Given the description of an element on the screen output the (x, y) to click on. 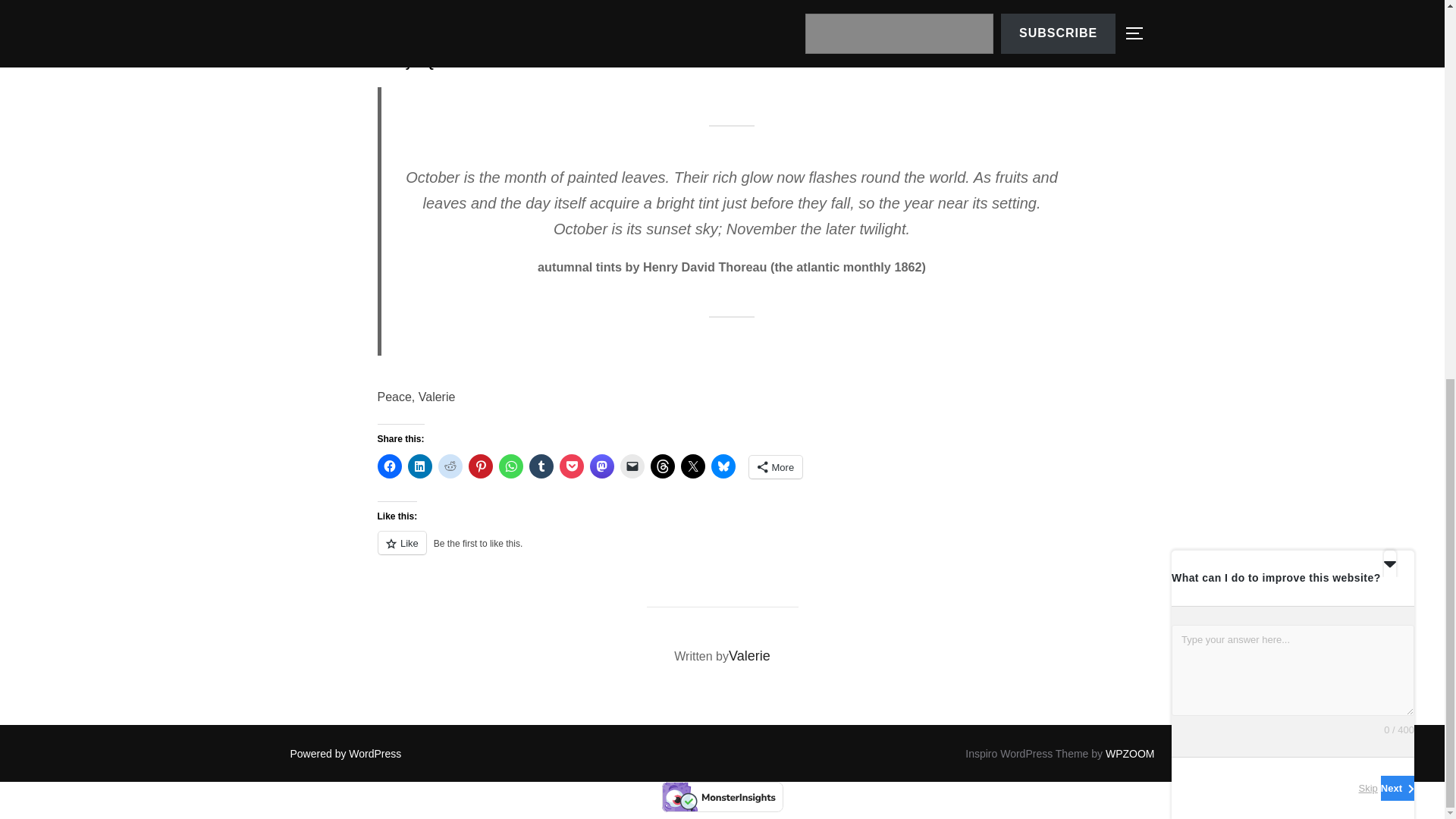
Click to share on Threads (662, 465)
Click to share on WhatsApp (510, 465)
Click to share on Mastodon (601, 465)
Click to share on LinkedIn (419, 465)
Click to share on Bluesky (723, 465)
Click to share on Reddit (450, 465)
Click to share on Pinterest (480, 465)
Click to share on Tumblr (541, 465)
Click to share on Facebook (389, 465)
Click to share on X (692, 465)
Click to email a link to a friend (632, 465)
Click to share on Pocket (571, 465)
